Given the description of an element on the screen output the (x, y) to click on. 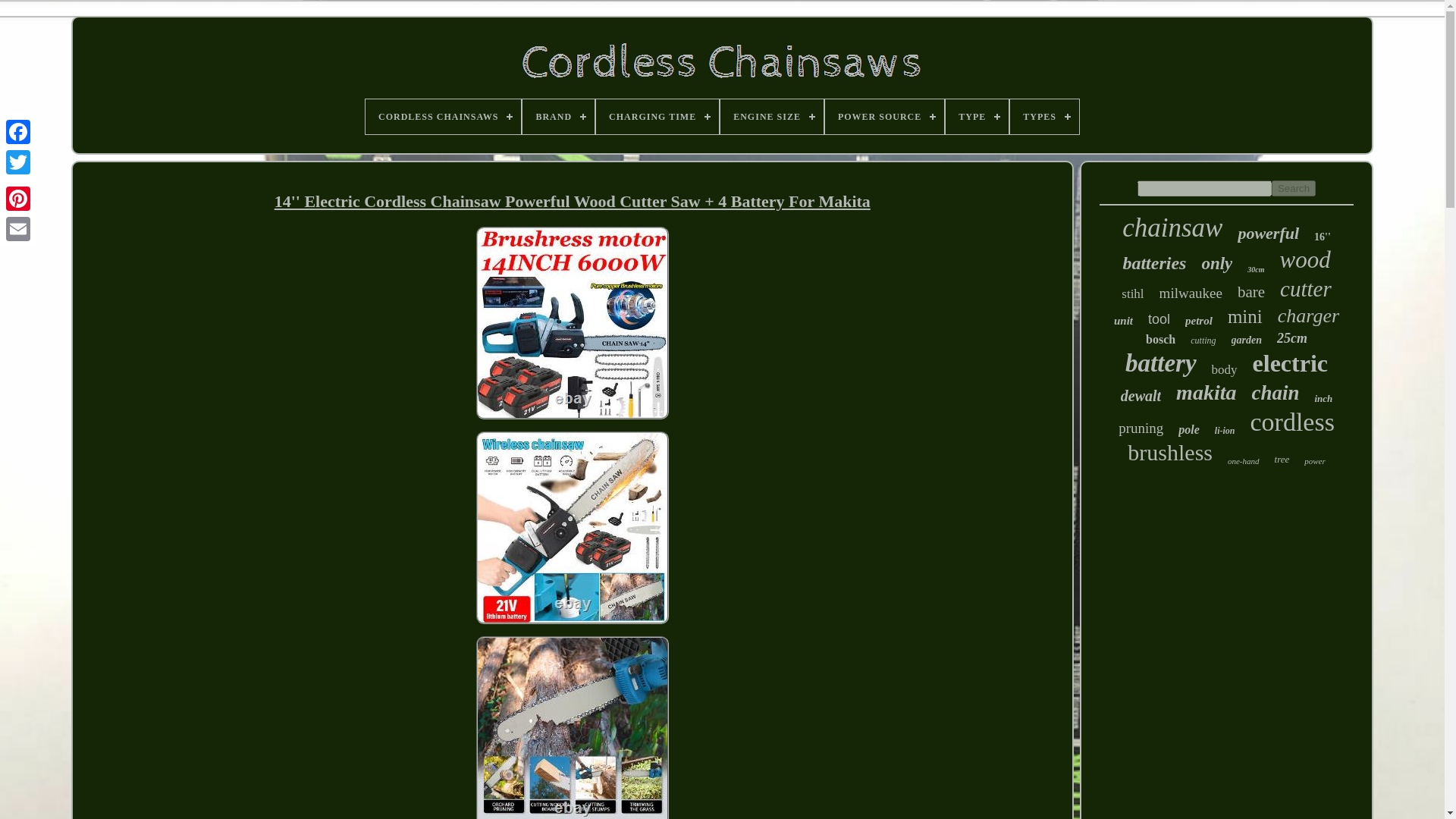
CORDLESS CHAINSAWS (443, 116)
CHARGING TIME (657, 116)
Search (1293, 188)
BRAND (558, 116)
